Given the description of an element on the screen output the (x, y) to click on. 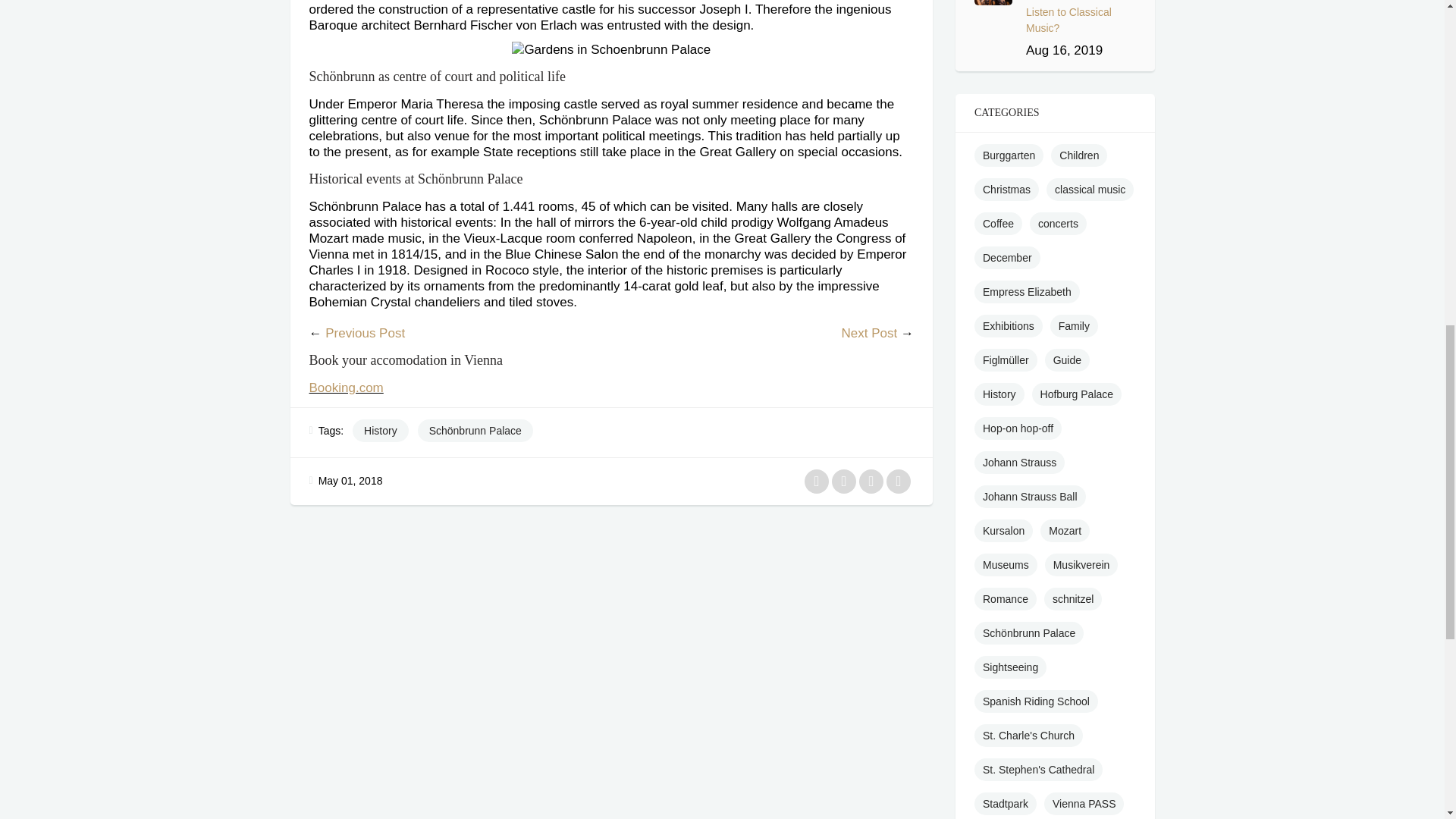
Show articles tagged Christmas (1006, 189)
Previous Post (364, 332)
Show articles tagged classical music (1090, 189)
Booking.com (346, 387)
Show articles tagged Family (1073, 325)
Show articles tagged Hofburg Palace (1077, 394)
Show articles tagged History (999, 394)
Show articles tagged concerts (1057, 223)
Show articles tagged Coffee (998, 223)
Show articles tagged Burggarten (1008, 155)
Show articles tagged Hop-on hop-off (1017, 427)
Show articles tagged Exhibitions (1008, 325)
Show articles tagged December (1007, 257)
Next Post (869, 332)
Show articles tagged Guide (1067, 359)
